Given the description of an element on the screen output the (x, y) to click on. 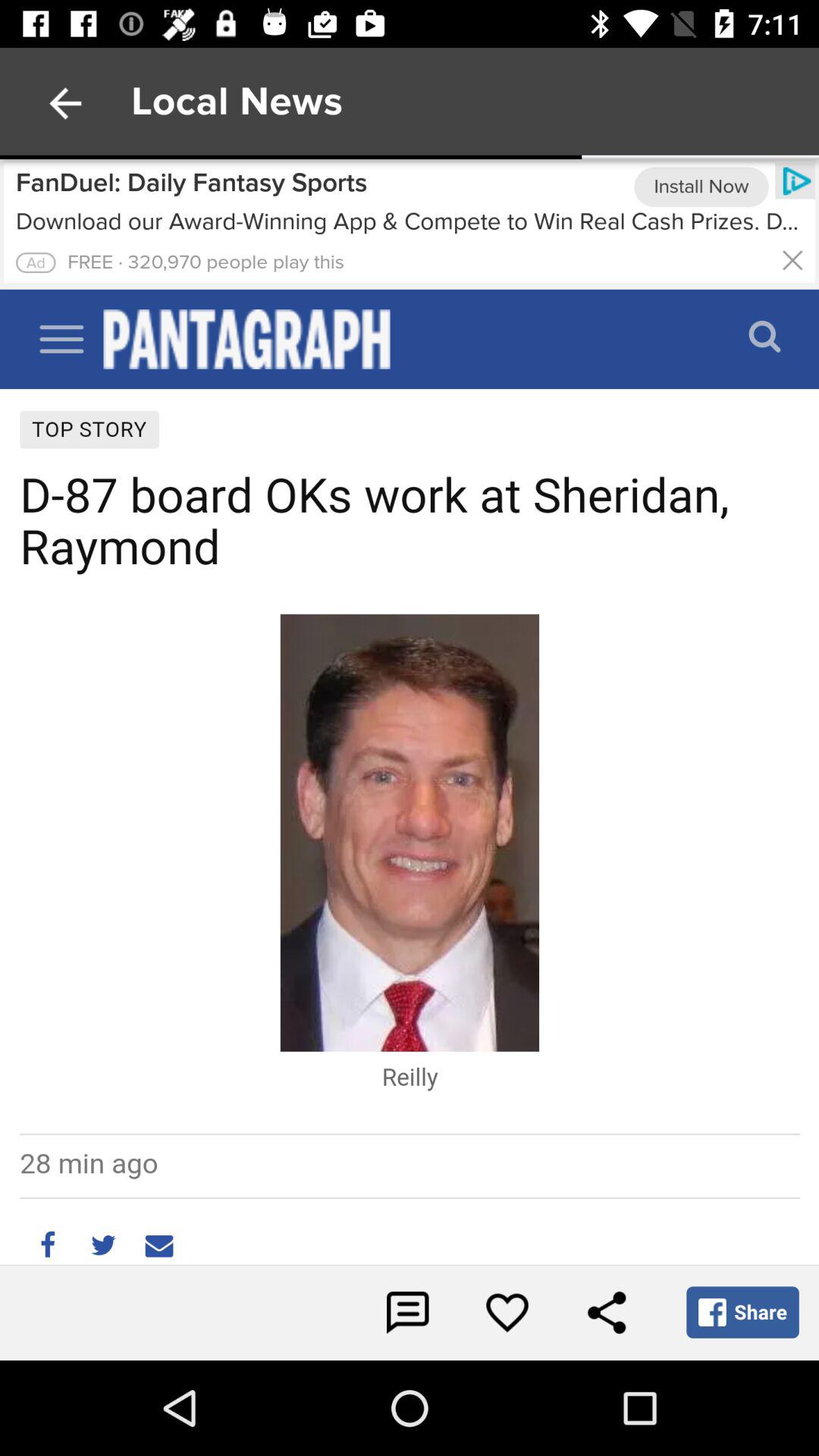
share the article (606, 1312)
